Given the description of an element on the screen output the (x, y) to click on. 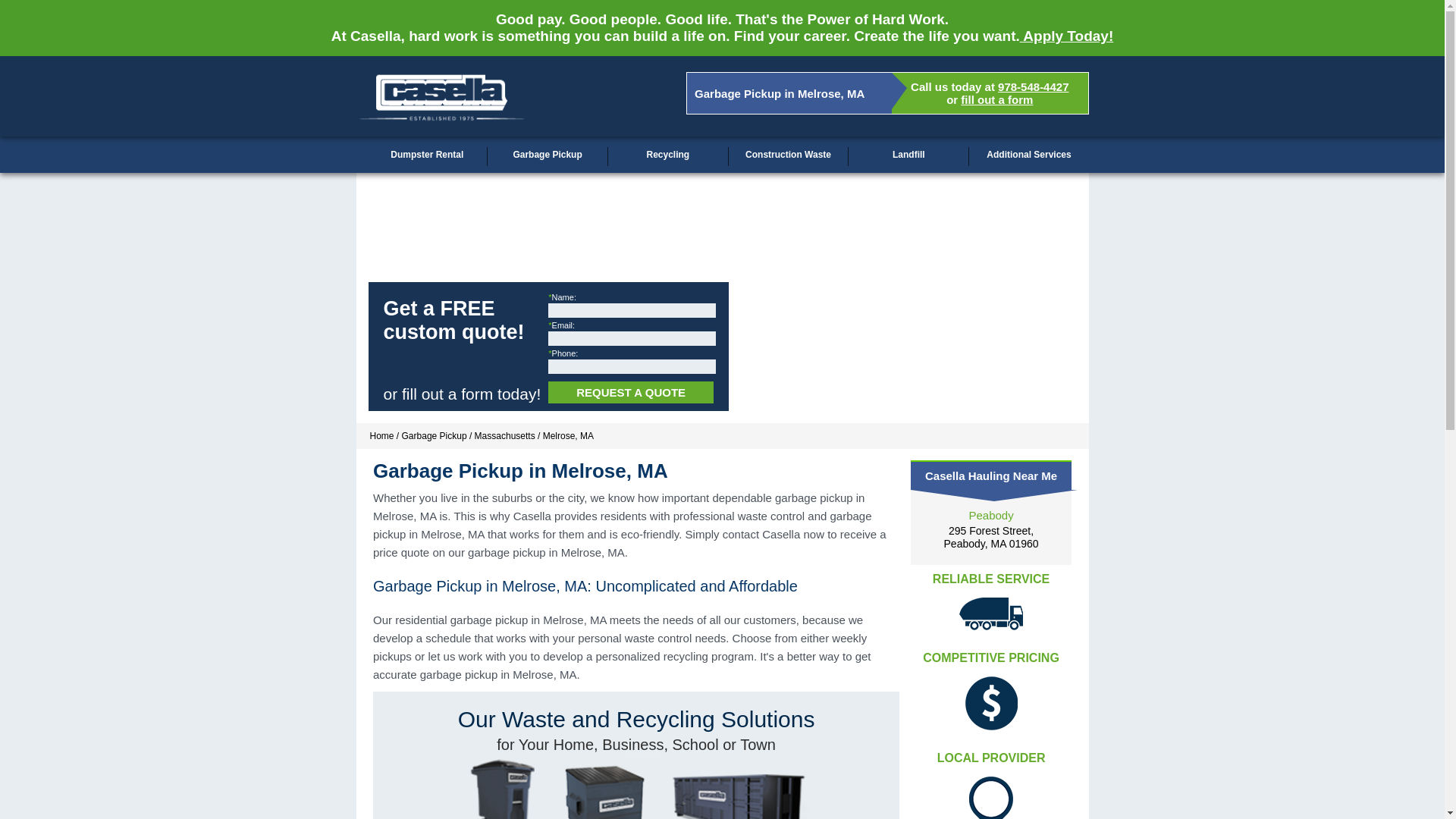
 Apply Today! (1066, 35)
Recycling (668, 154)
REQUEST A QUOTE (630, 392)
Additional Services (1029, 154)
Dumpster Rental (426, 154)
Garbage Pickup (547, 154)
Landfill (908, 154)
Peabody (991, 536)
978-548-4427 (990, 514)
Construction Waste (1032, 86)
Home (788, 154)
Garbage Pickup (381, 435)
Massachusetts (434, 435)
fill out a form (504, 435)
